Given the description of an element on the screen output the (x, y) to click on. 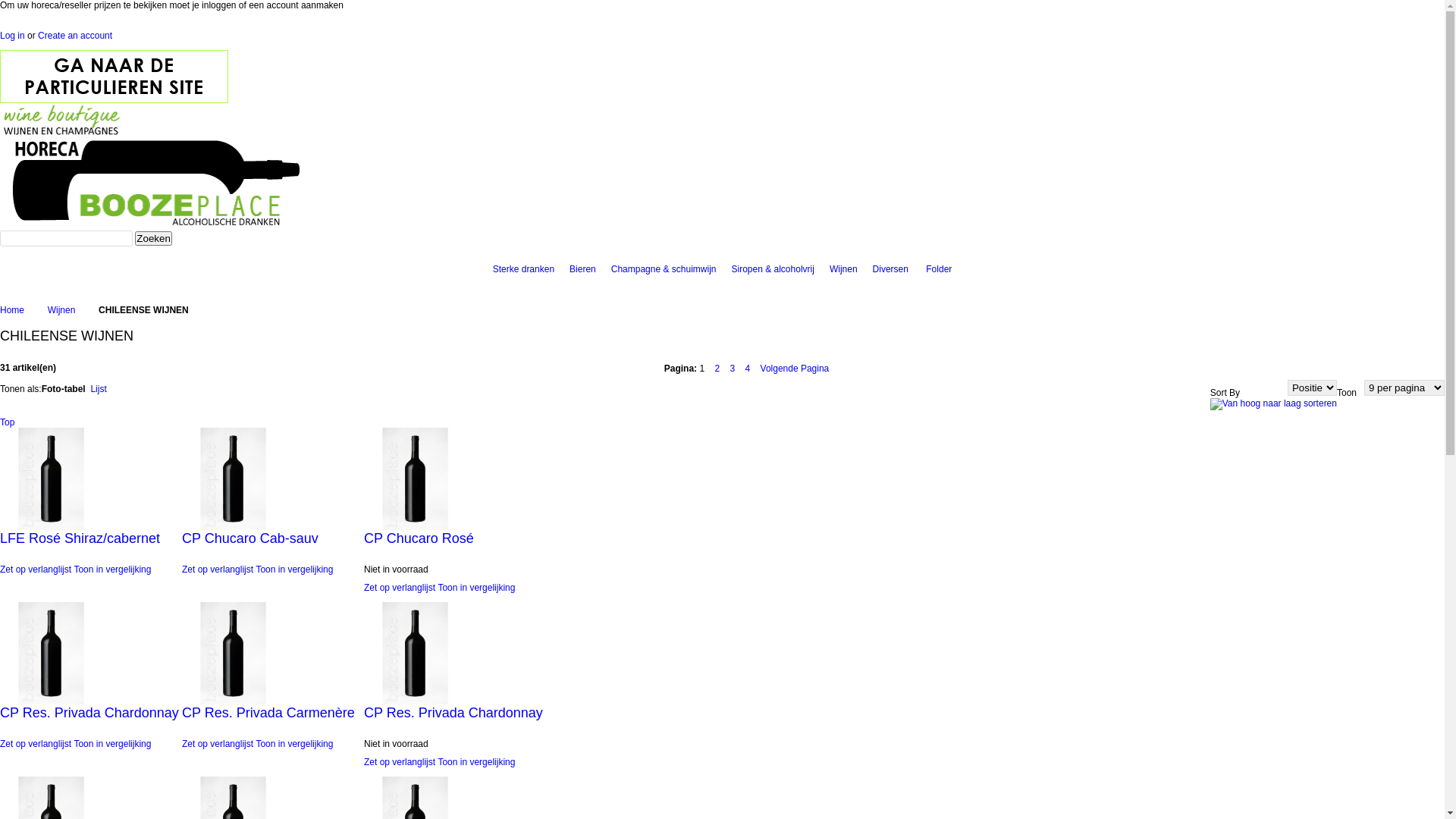
Wijnen Element type: text (61, 309)
Toon in vergelijking Element type: text (111, 743)
Siropen & alcoholvrij Element type: text (772, 268)
CP Res. Privada Chardonnay Element type: text (455, 719)
CP Res. Privada Chardonnay Element type: hover (91, 653)
Bieren Element type: text (582, 268)
Zet op verlanglijst Element type: text (217, 569)
Wijnen Element type: text (843, 268)
Sterke dranken Element type: text (523, 268)
Zet op verlanglijst Element type: text (217, 743)
Zet op verlanglijst Element type: text (35, 569)
Zet op verlanglijst Element type: text (35, 743)
Toon in vergelijking Element type: text (475, 587)
Toon in vergelijking Element type: text (111, 569)
Diversen Element type: text (890, 268)
Create an account Element type: text (74, 35)
Zet op verlanglijst Element type: text (399, 761)
CP Chucaro Cab-sauv Element type: hover (273, 478)
Top Element type: text (7, 422)
2 Element type: text (716, 368)
Zet op verlanglijst Element type: text (399, 587)
CP Res. Privada Chardonnay Element type: text (91, 719)
CP Chucaro Cab-sauv Element type: text (273, 545)
Lijst Element type: text (98, 388)
Log in Element type: text (12, 35)
Toon in vergelijking Element type: text (475, 761)
Champagne & schuimwijn Element type: text (663, 268)
CP Res. Privada Chardonnay Element type: hover (455, 653)
Van hoog naar laag sorteren Element type: hover (1273, 403)
4 Element type: text (747, 368)
Zoeken Element type: text (152, 238)
Volgende Pagina Element type: text (794, 368)
Boozeplace Element type: hover (151, 108)
3 Element type: text (731, 368)
Home Element type: text (12, 309)
Toon in vergelijking Element type: text (293, 569)
Toon in vergelijking Element type: text (293, 743)
Folder Element type: text (938, 268)
